Given the description of an element on the screen output the (x, y) to click on. 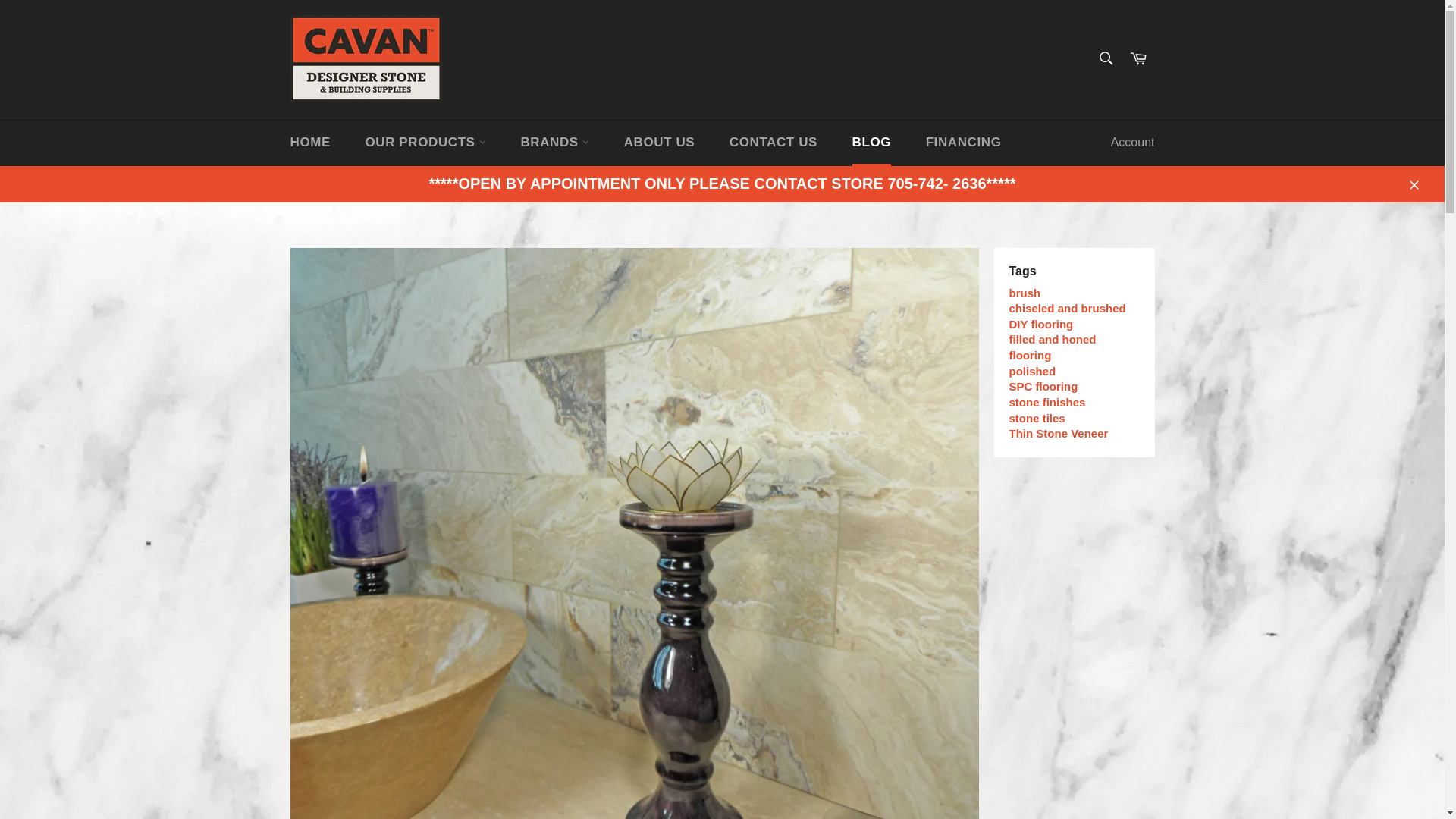
Show articles tagged Thin Stone Veneer (1058, 432)
Show articles tagged stone tiles (1036, 417)
Show articles tagged DIY flooring (1041, 323)
Show articles tagged polished (1032, 370)
Show articles tagged flooring (1030, 354)
Show articles tagged SPC flooring (1043, 386)
Show articles tagged brush (1025, 292)
Show articles tagged stone finishes (1046, 401)
Show articles tagged filled and honed (1052, 338)
Show articles tagged chiseled and brushed (1067, 308)
